Given the description of an element on the screen output the (x, y) to click on. 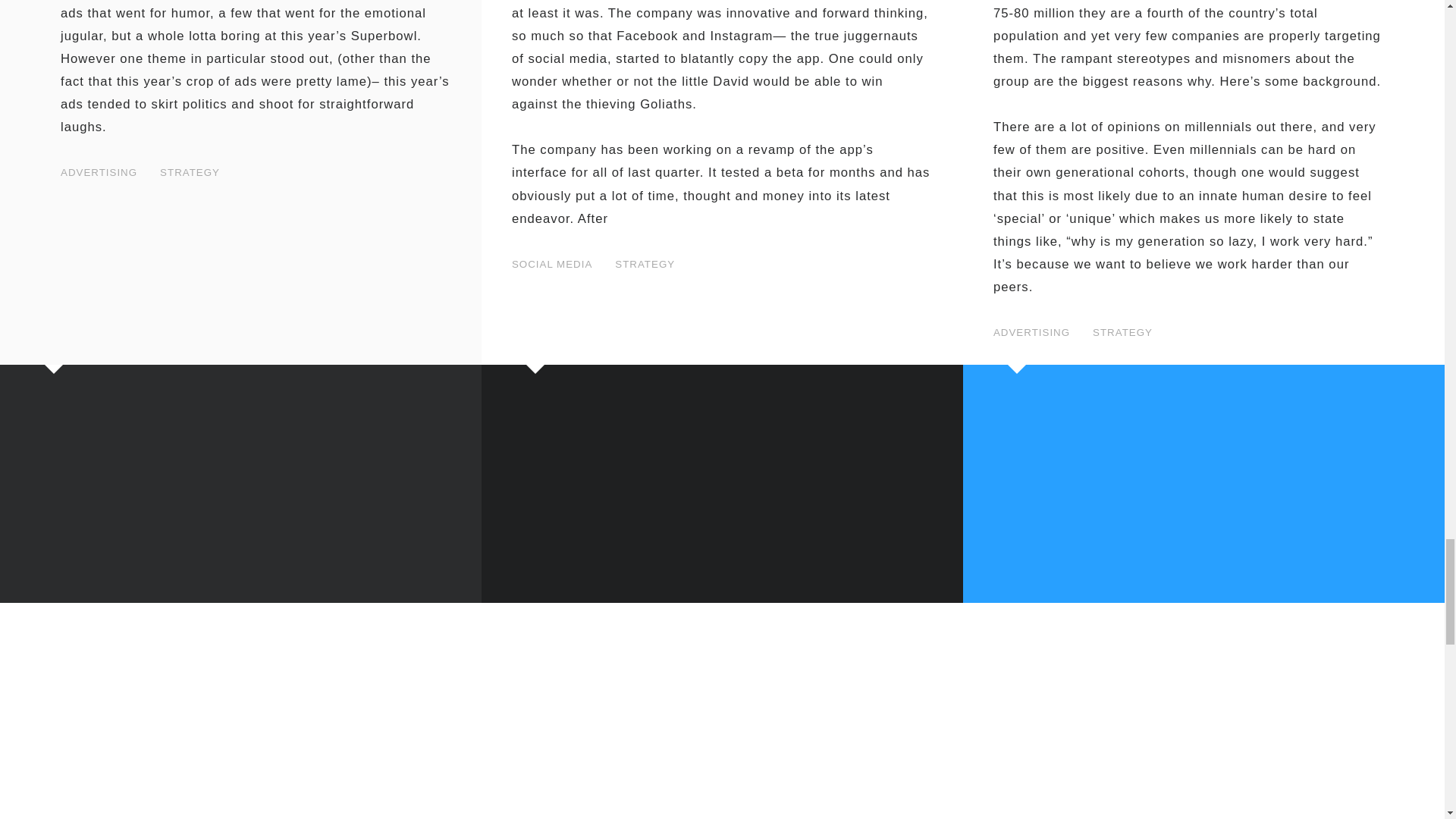
ADVERTISING (98, 172)
SOCIAL MEDIA (552, 264)
STRATEGY (189, 172)
